Given the description of an element on the screen output the (x, y) to click on. 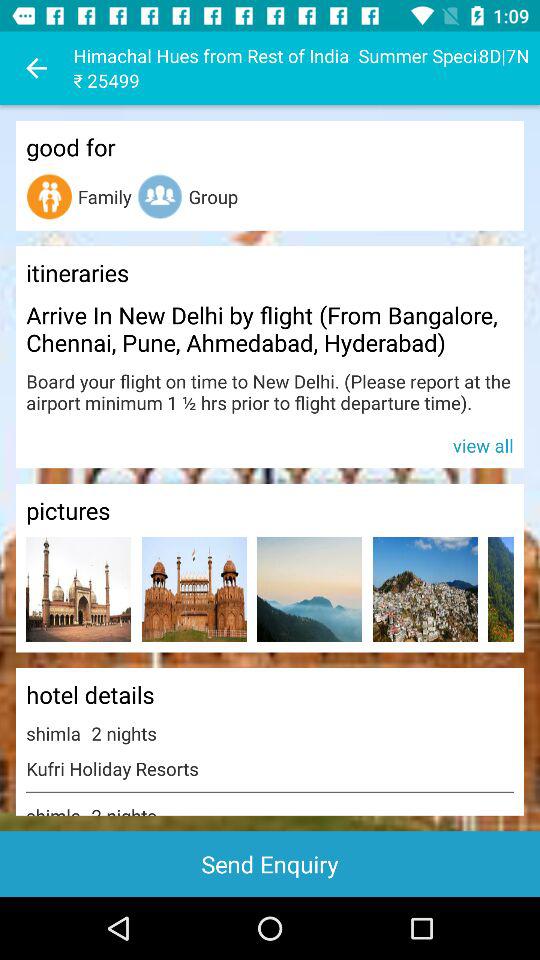
tap the item above the hotel details icon (78, 588)
